Given the description of an element on the screen output the (x, y) to click on. 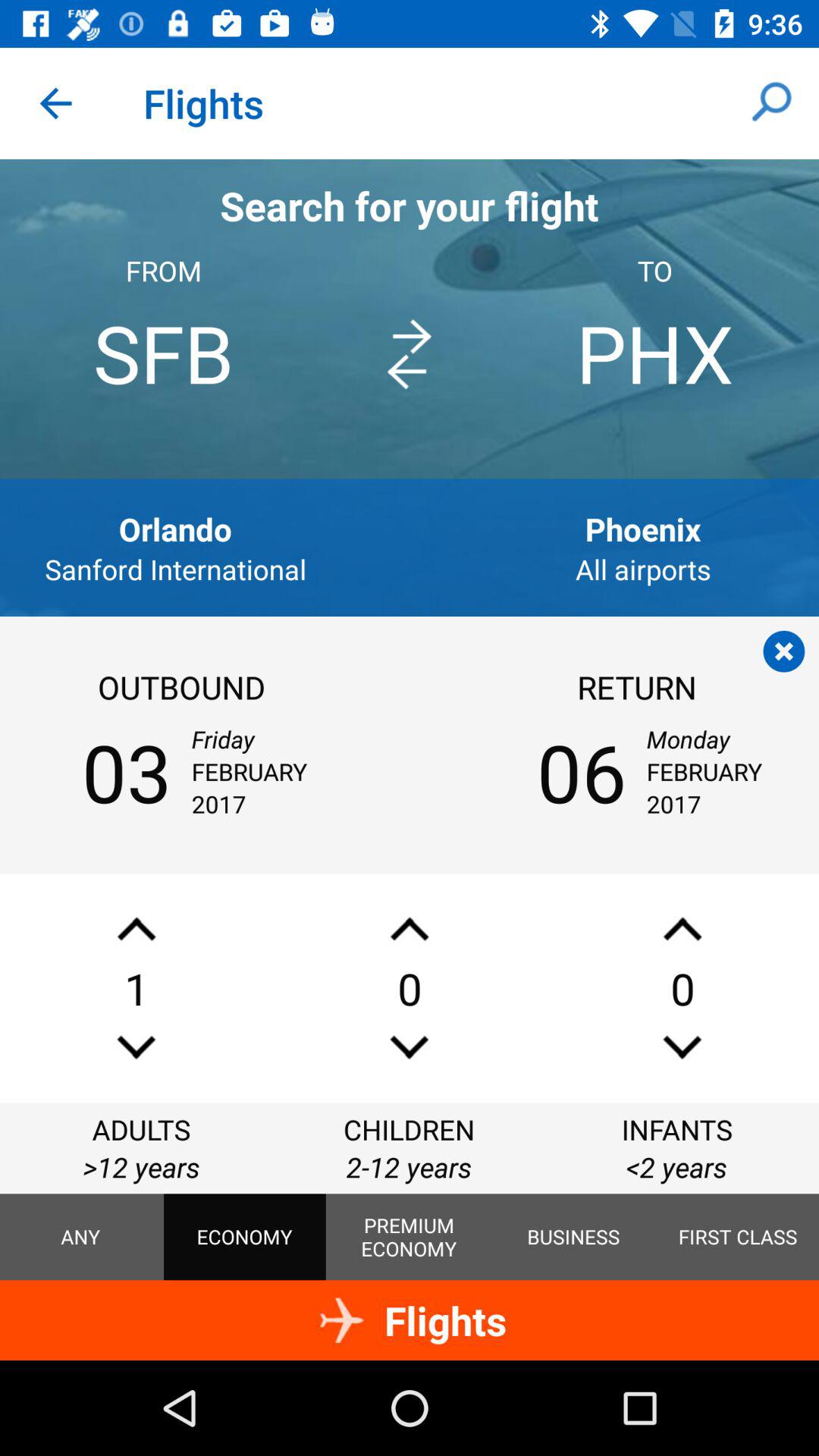
close option button (784, 651)
